Given the description of an element on the screen output the (x, y) to click on. 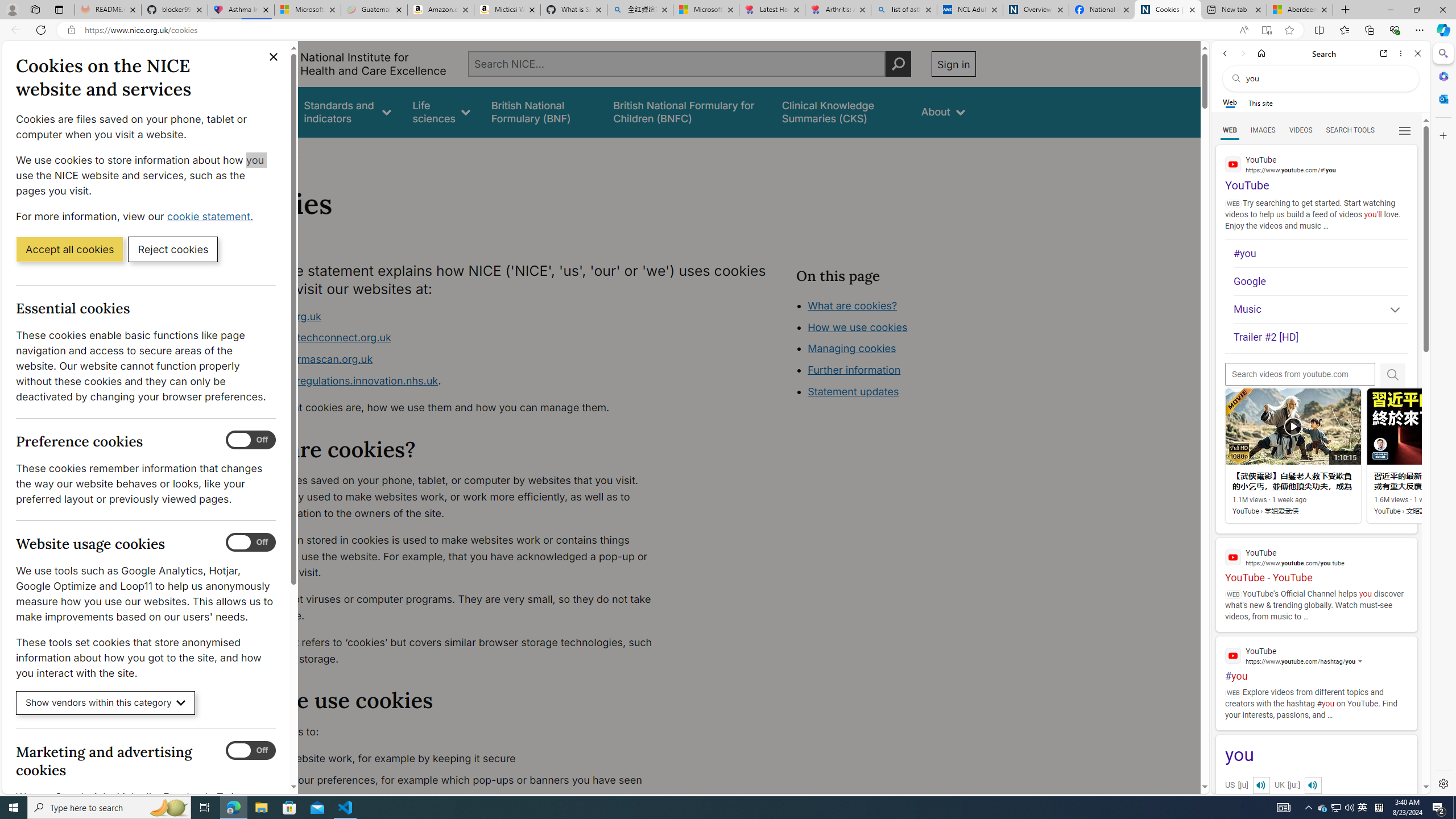
www.nice.org.uk (279, 315)
About (942, 111)
Close Outlook pane (1442, 98)
Home (1261, 53)
Search videos from youtube.com (1299, 373)
Aberdeen, Hong Kong SAR hourly forecast | Microsoft Weather (1300, 9)
Sign in (952, 63)
make our website work, for example by keeping it secure (452, 759)
